Given the description of an element on the screen output the (x, y) to click on. 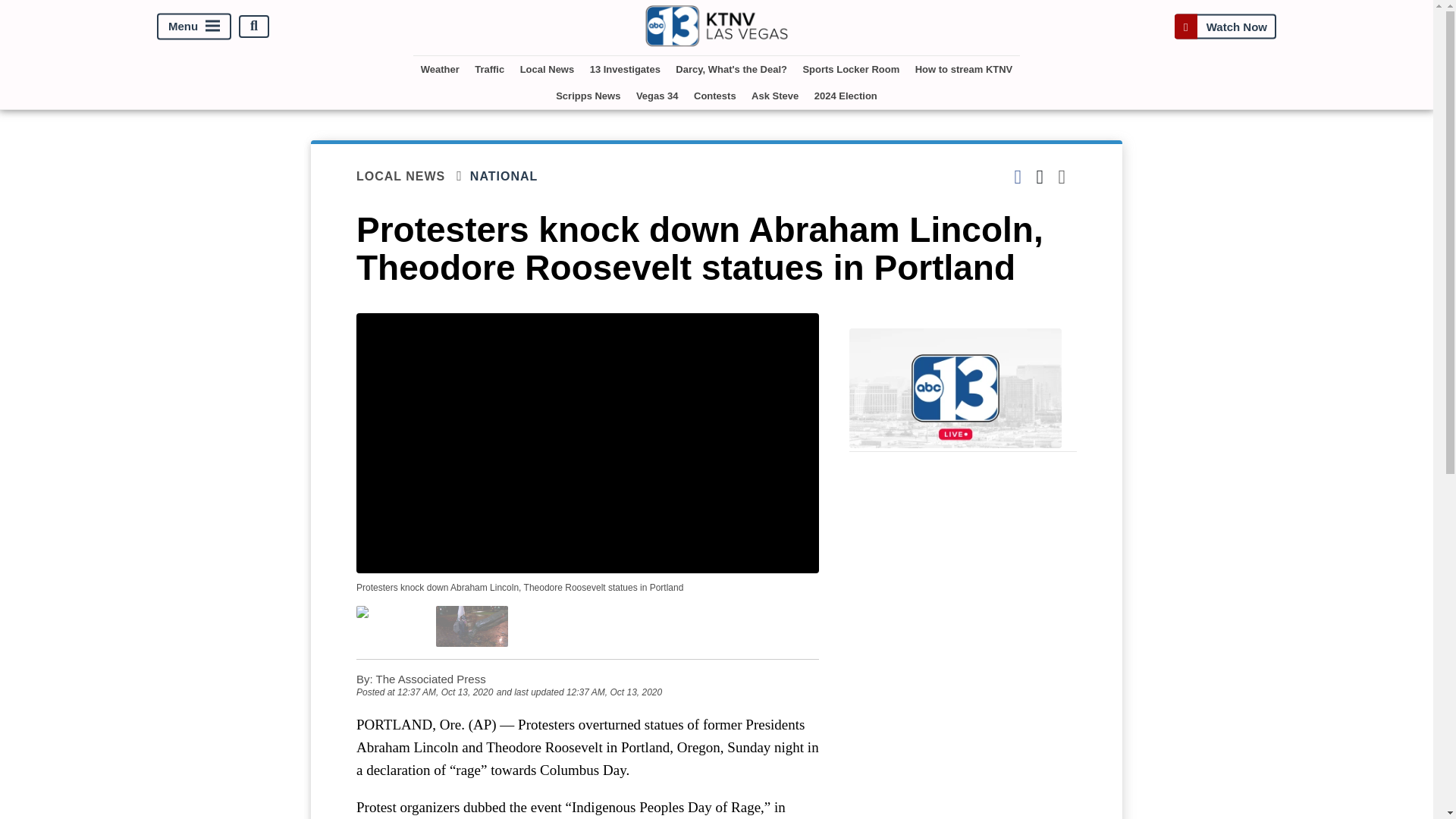
Watch Now (1224, 25)
Menu (194, 26)
